Given the description of an element on the screen output the (x, y) to click on. 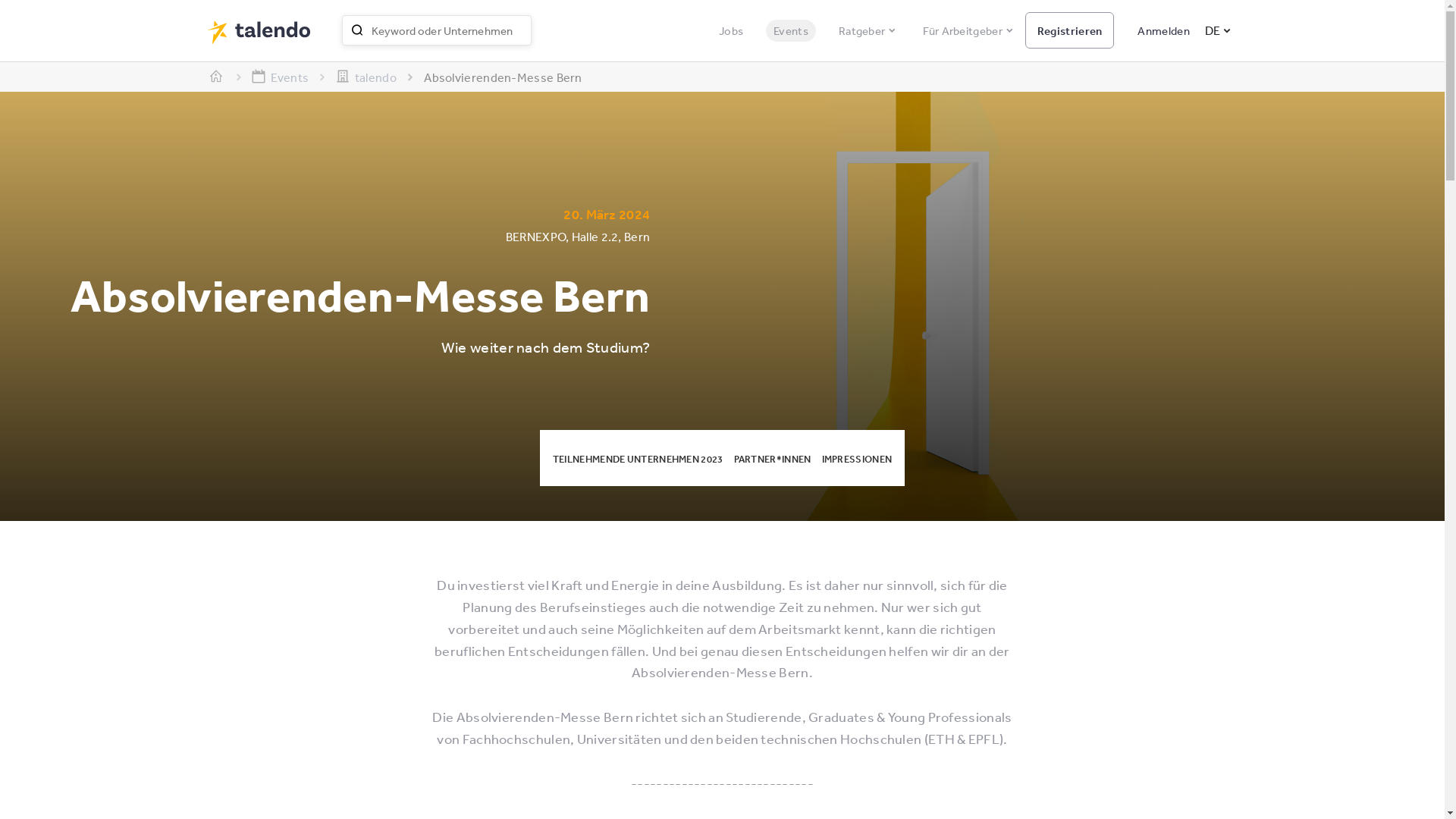
IMPRESSIONEN Element type: text (857, 458)
Jobs Element type: text (730, 30)
Anmelden Element type: text (1157, 30)
PARTNER*INNEN Element type: text (772, 458)
Events Element type: text (287, 77)
talendo Element type: text (373, 77)
TEILNEHMENDE UNTERNEHMEN 2023 Element type: text (637, 458)
Registrieren Element type: text (1069, 30)
Events Element type: text (790, 30)
